Given the description of an element on the screen output the (x, y) to click on. 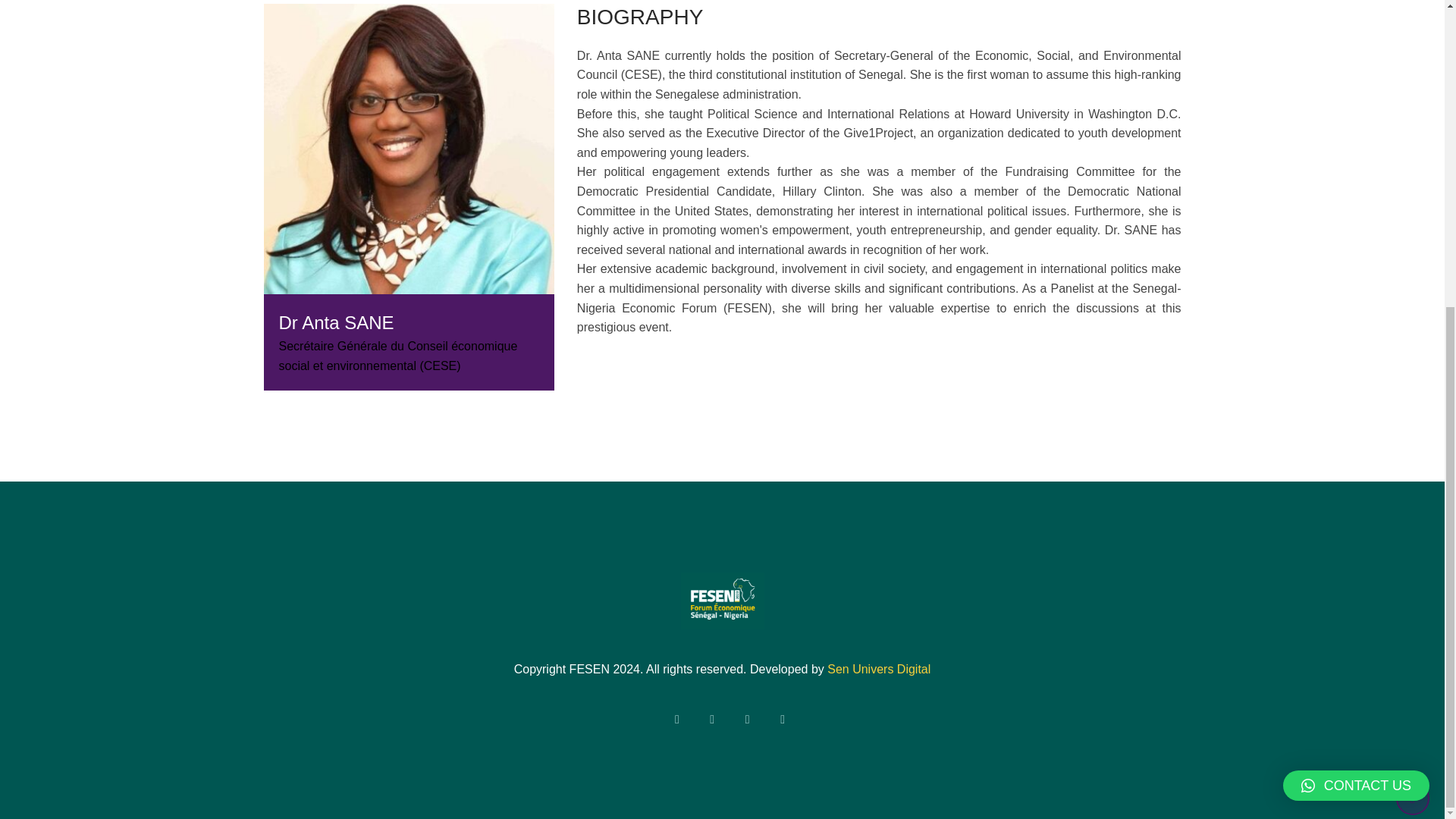
CONTACT US (1355, 301)
Sen Univers Digital (878, 668)
